Given the description of an element on the screen output the (x, y) to click on. 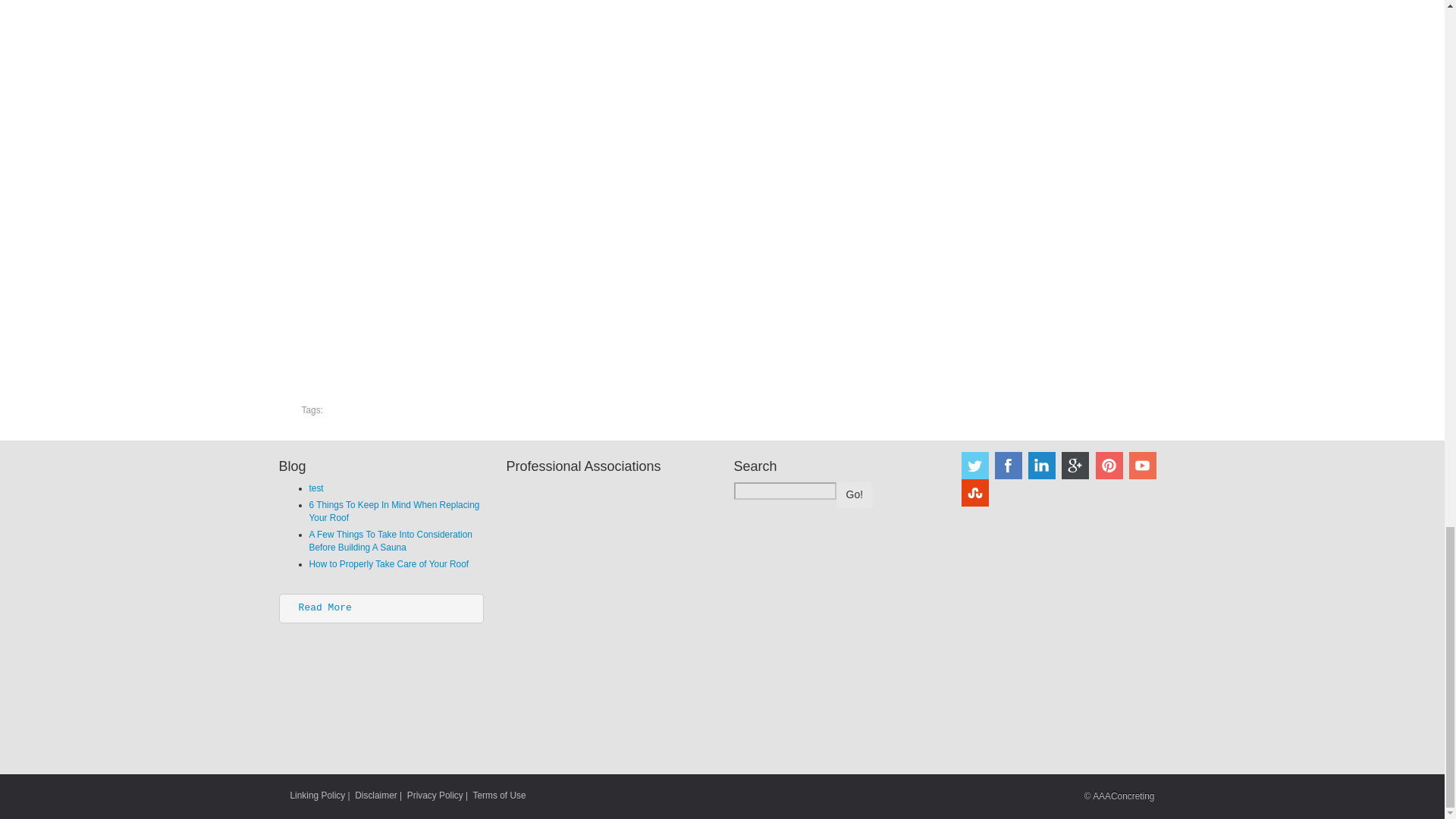
test (315, 488)
Go! (853, 494)
Facebook (1008, 465)
6 Things To Keep In Mind When Replacing Your Roof (394, 511)
Pinterest (1109, 465)
How to Properly Take Care of Your Roof (388, 563)
Linking Policy (317, 795)
Disclaimer (376, 795)
Linkedin (1041, 465)
Stumble upon (974, 492)
